Given the description of an element on the screen output the (x, y) to click on. 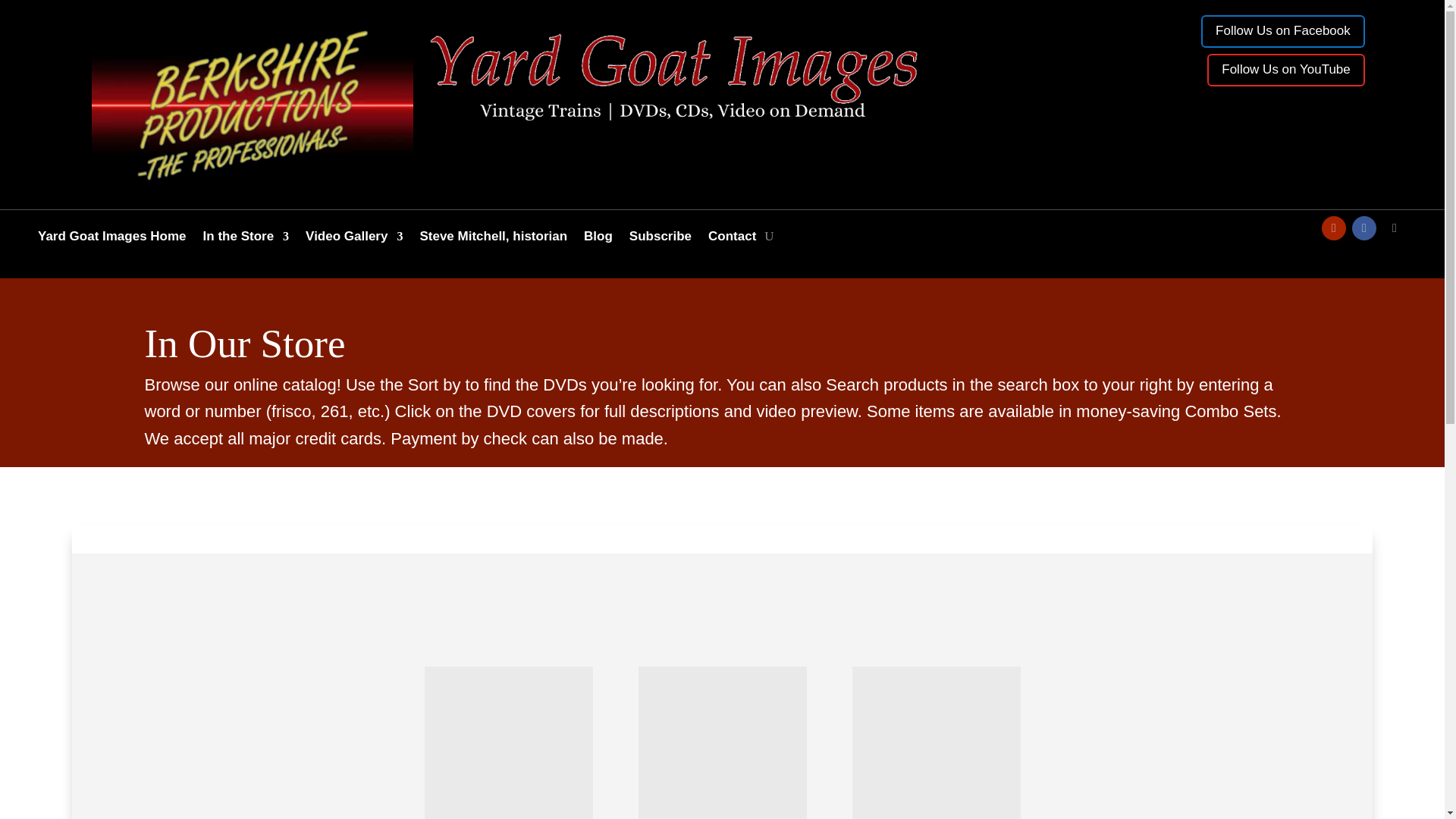
yard-goats-logo-2019 (673, 71)
Steve Mitchell, historian (493, 239)
Contact (731, 239)
Follow Us on Facebook (1283, 31)
berkshire productions professionals logo (252, 105)
Follow Us on YouTube (1285, 70)
Follow on Facebook (1363, 228)
Blog (597, 239)
Yard Goat Images Home (111, 239)
Video Gallery (354, 239)
Follow on X (1393, 228)
Subscribe (659, 239)
Follow on Youtube (1333, 228)
In the Store (246, 239)
